Given the description of an element on the screen output the (x, y) to click on. 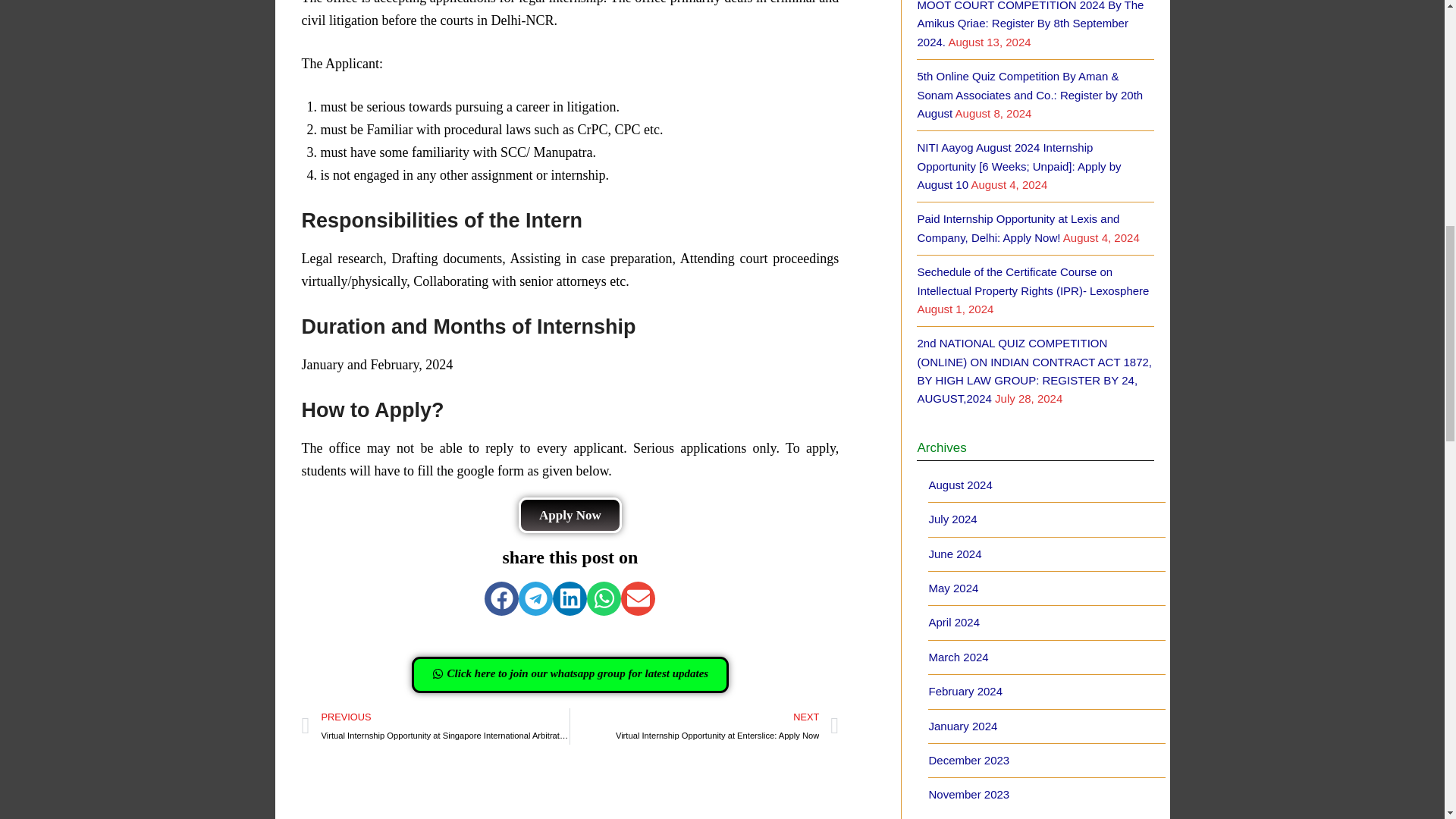
Apply Now (569, 515)
Click here to join our whatsapp group for latest updates (704, 726)
